Given the description of an element on the screen output the (x, y) to click on. 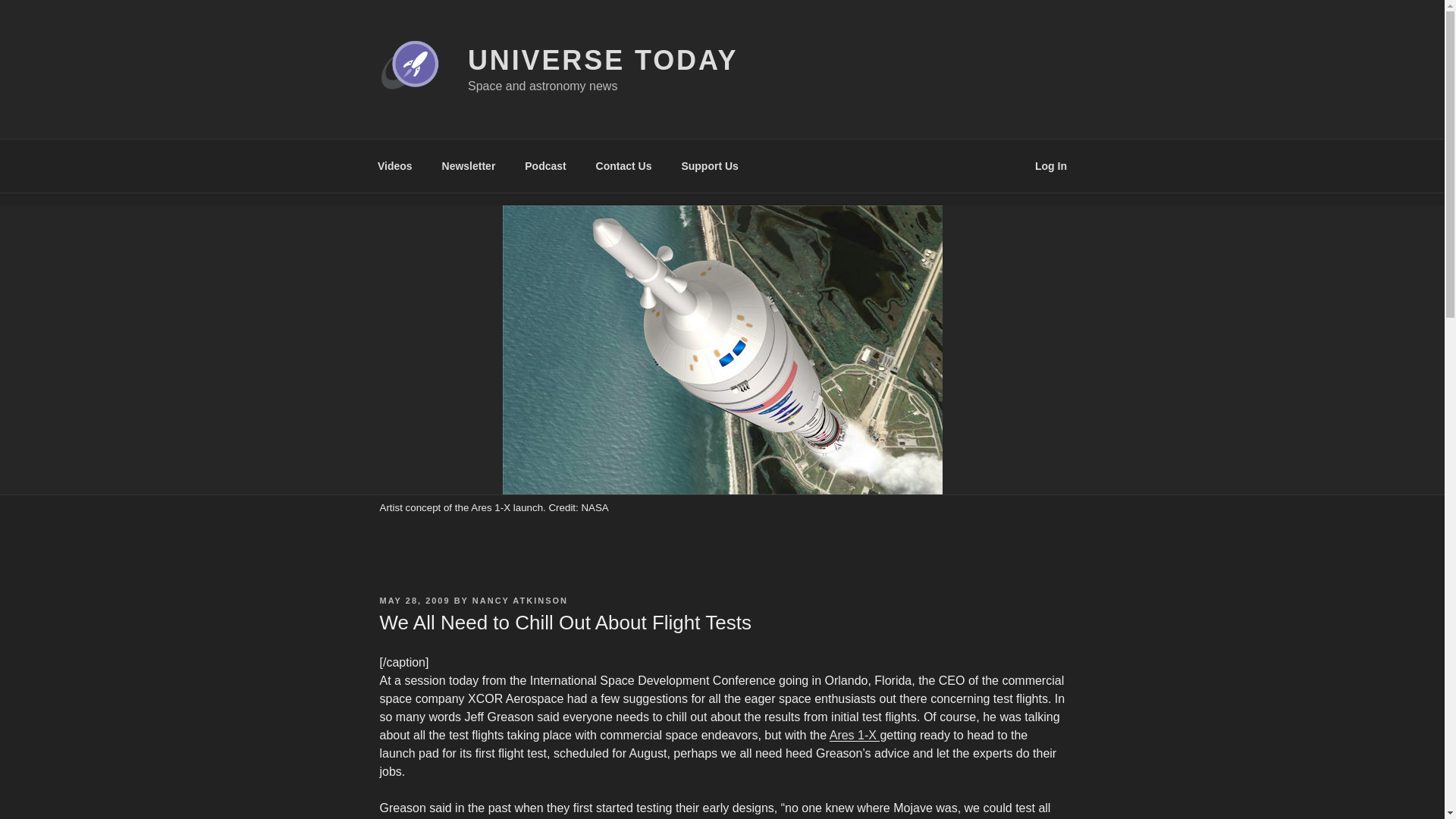
Log In (1051, 165)
MAY 28, 2009 (413, 600)
Podcast (545, 165)
Support Us (709, 165)
UNIVERSE TODAY (602, 60)
NANCY ATKINSON (519, 600)
Contact Us (623, 165)
Ares 1-X (854, 735)
Newsletter (468, 165)
Videos (394, 165)
